Given the description of an element on the screen output the (x, y) to click on. 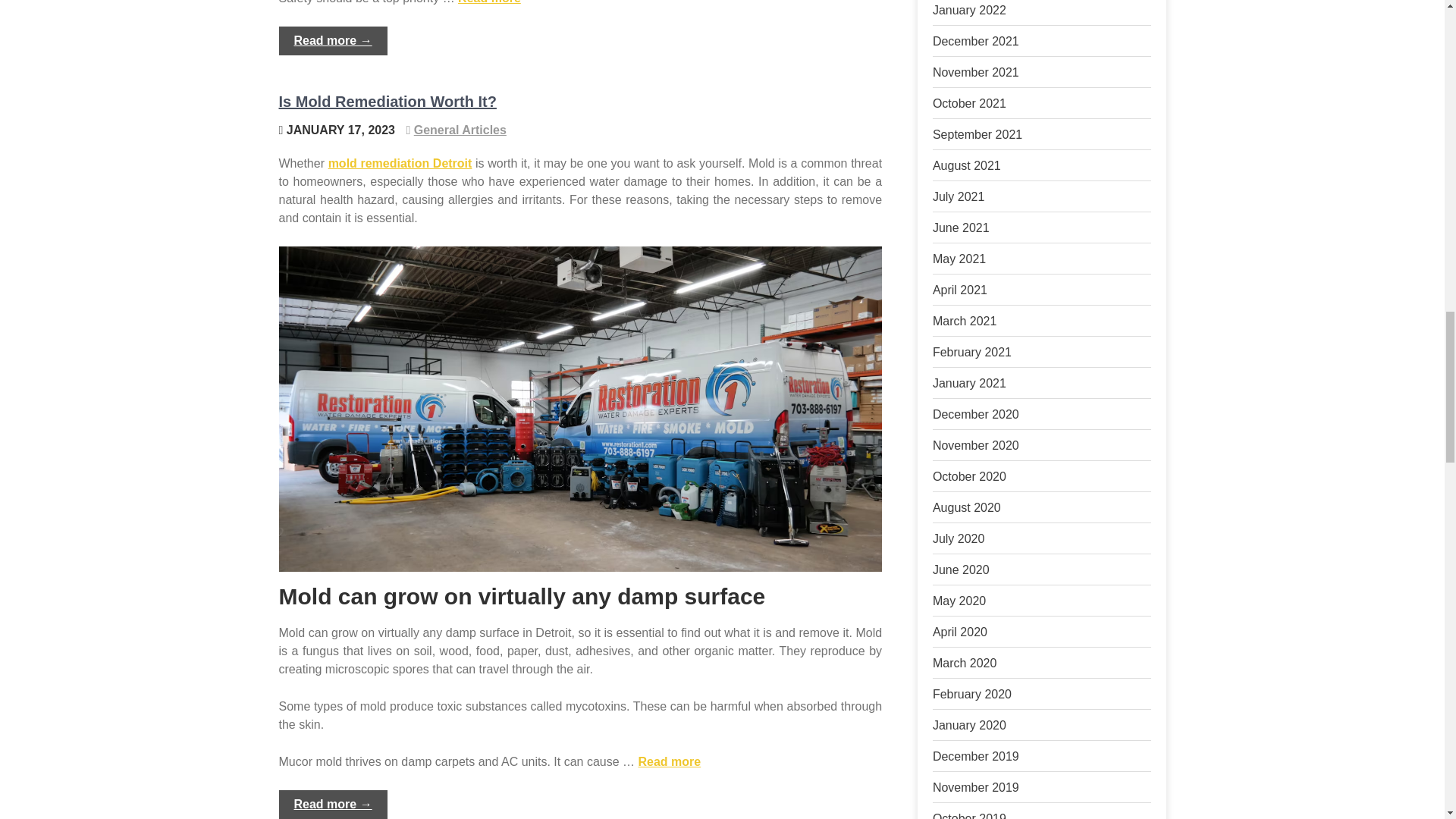
Read more (670, 761)
Read more (489, 2)
General Articles (459, 129)
Is Mold Remediation Worth It? (387, 101)
mold remediation Detroit (400, 163)
